Given the description of an element on the screen output the (x, y) to click on. 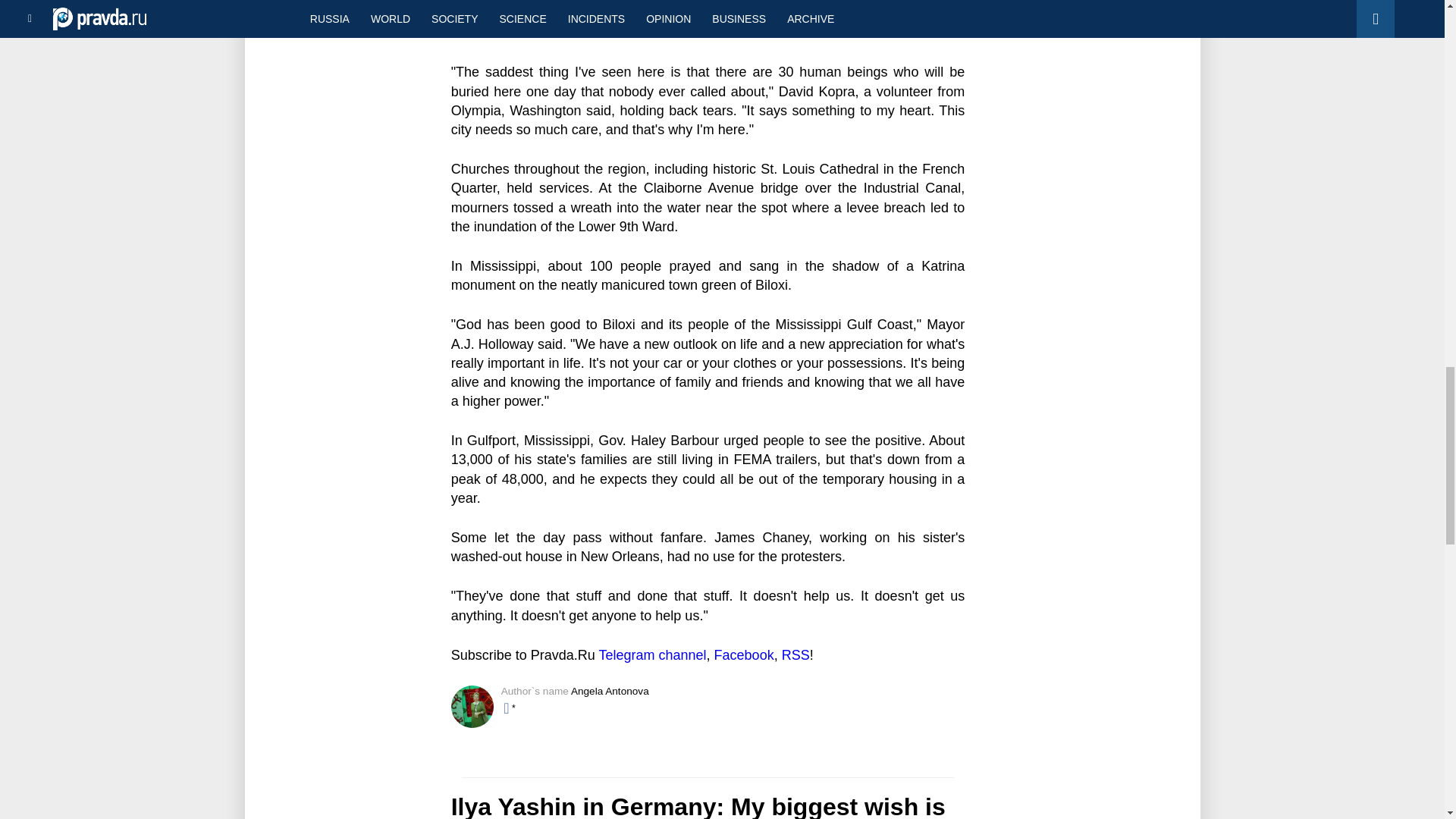
Telegram channel (652, 654)
RSS (795, 654)
Facebook (744, 654)
Angela Antonova (609, 690)
